Given the description of an element on the screen output the (x, y) to click on. 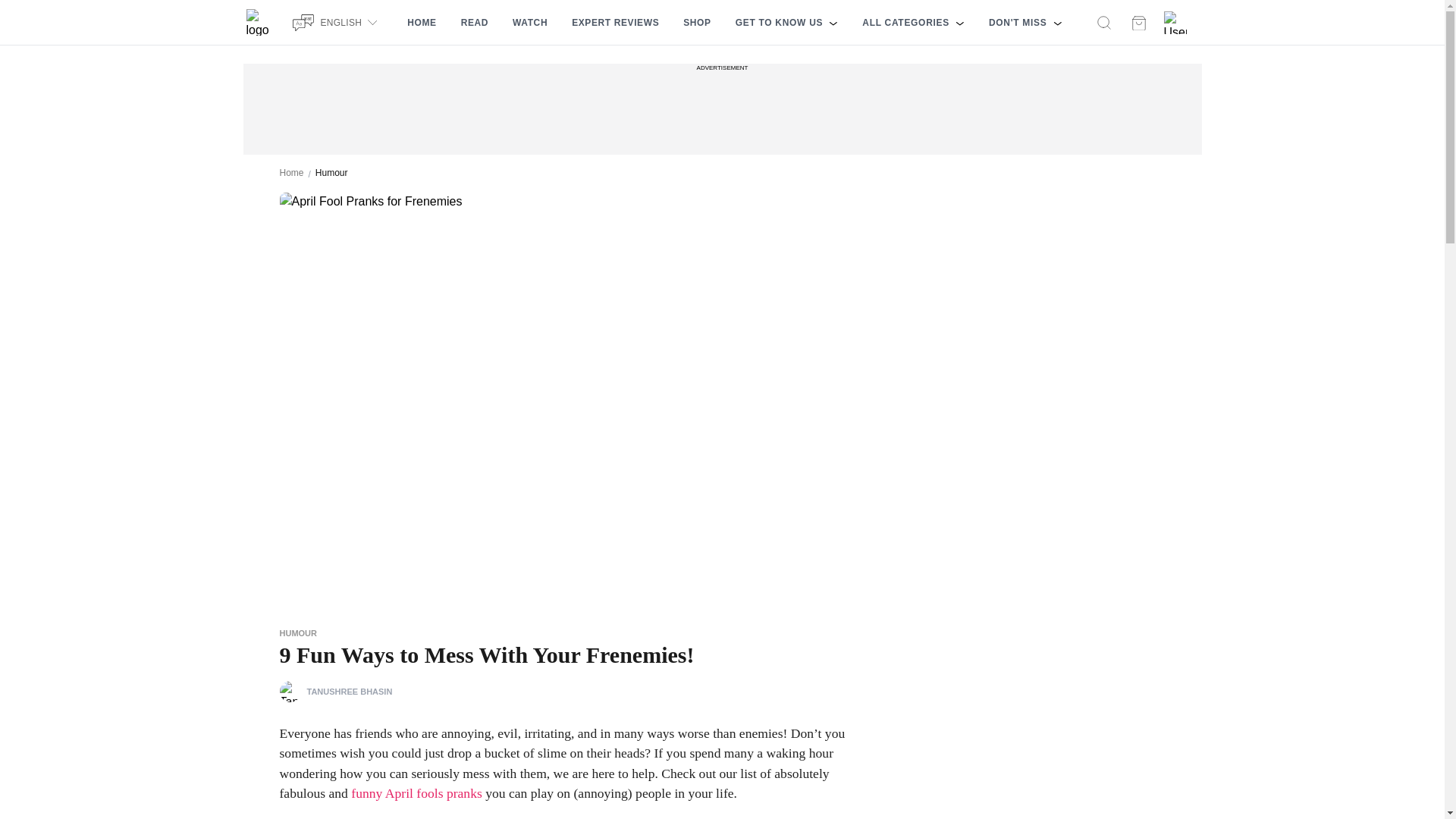
TANUSHREE BHASIN (335, 690)
WATCH (529, 22)
EXPERT REVIEWS (615, 22)
Home (290, 173)
Humour (331, 173)
ENGLISH (337, 22)
Tanushree Bhasin (289, 690)
HUMOUR (298, 633)
SHOP (696, 22)
READ (474, 22)
funny April fools pranks (415, 792)
HOME (421, 22)
